Given the description of an element on the screen output the (x, y) to click on. 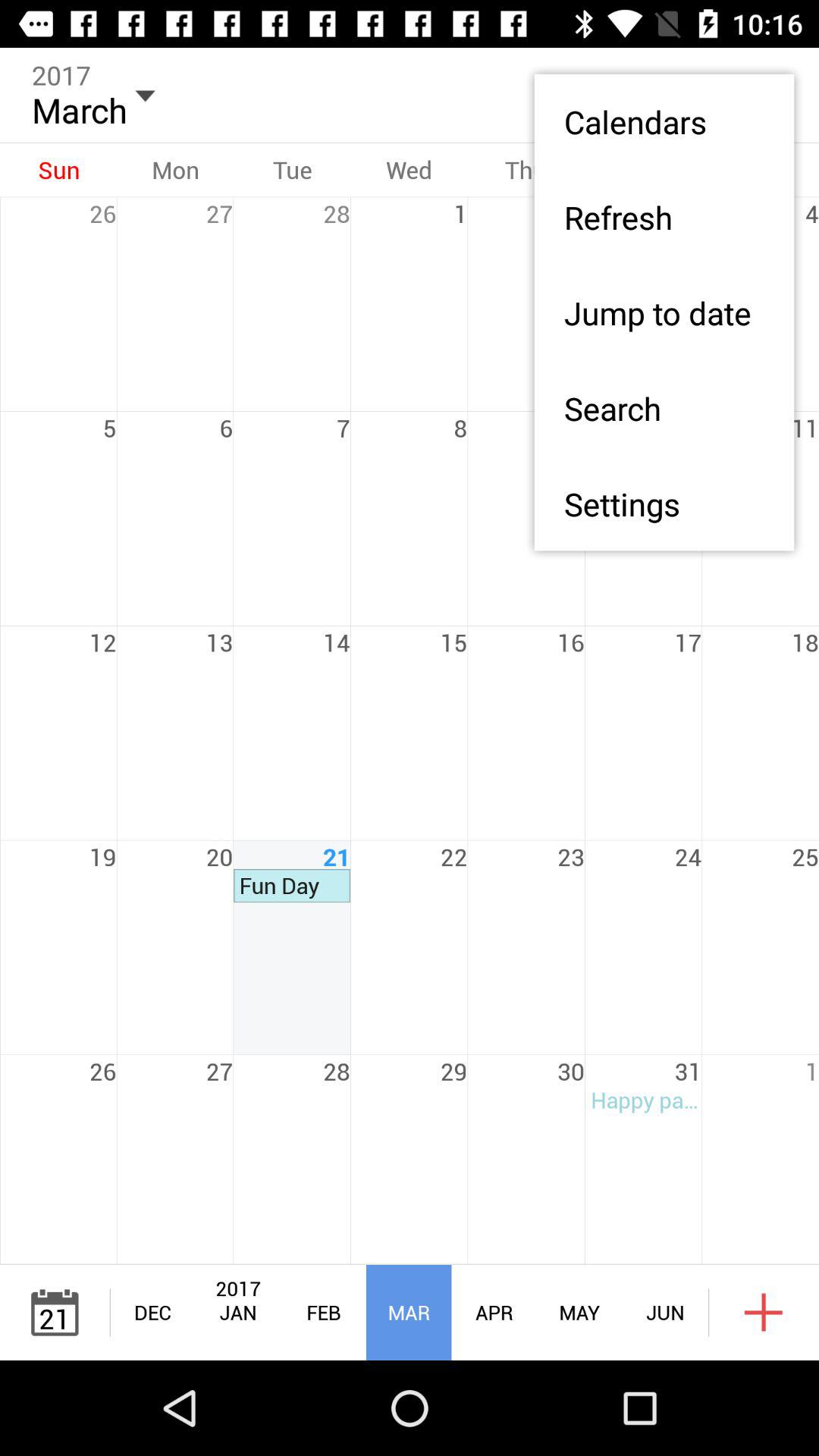
swipe until the settings item (664, 503)
